Given the description of an element on the screen output the (x, y) to click on. 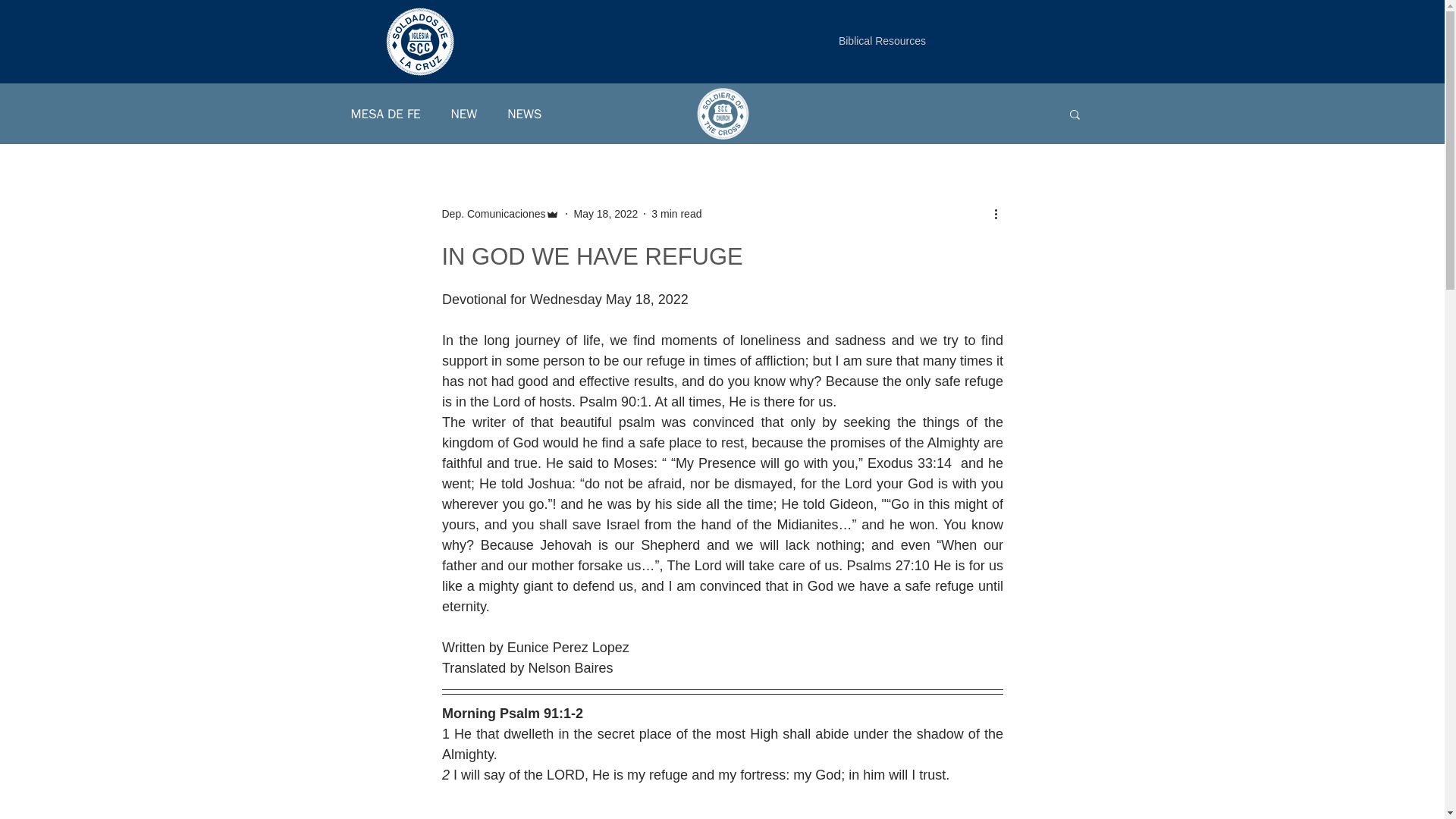
Radio (376, 71)
3 min read (675, 214)
Dep. Comunicaciones (492, 213)
Blog (479, 71)
NEW (464, 113)
Leaders Resources (558, 71)
NEWS (523, 113)
MESA DE FE (385, 113)
May 18, 2022 (605, 214)
Log In (1060, 60)
